Given the description of an element on the screen output the (x, y) to click on. 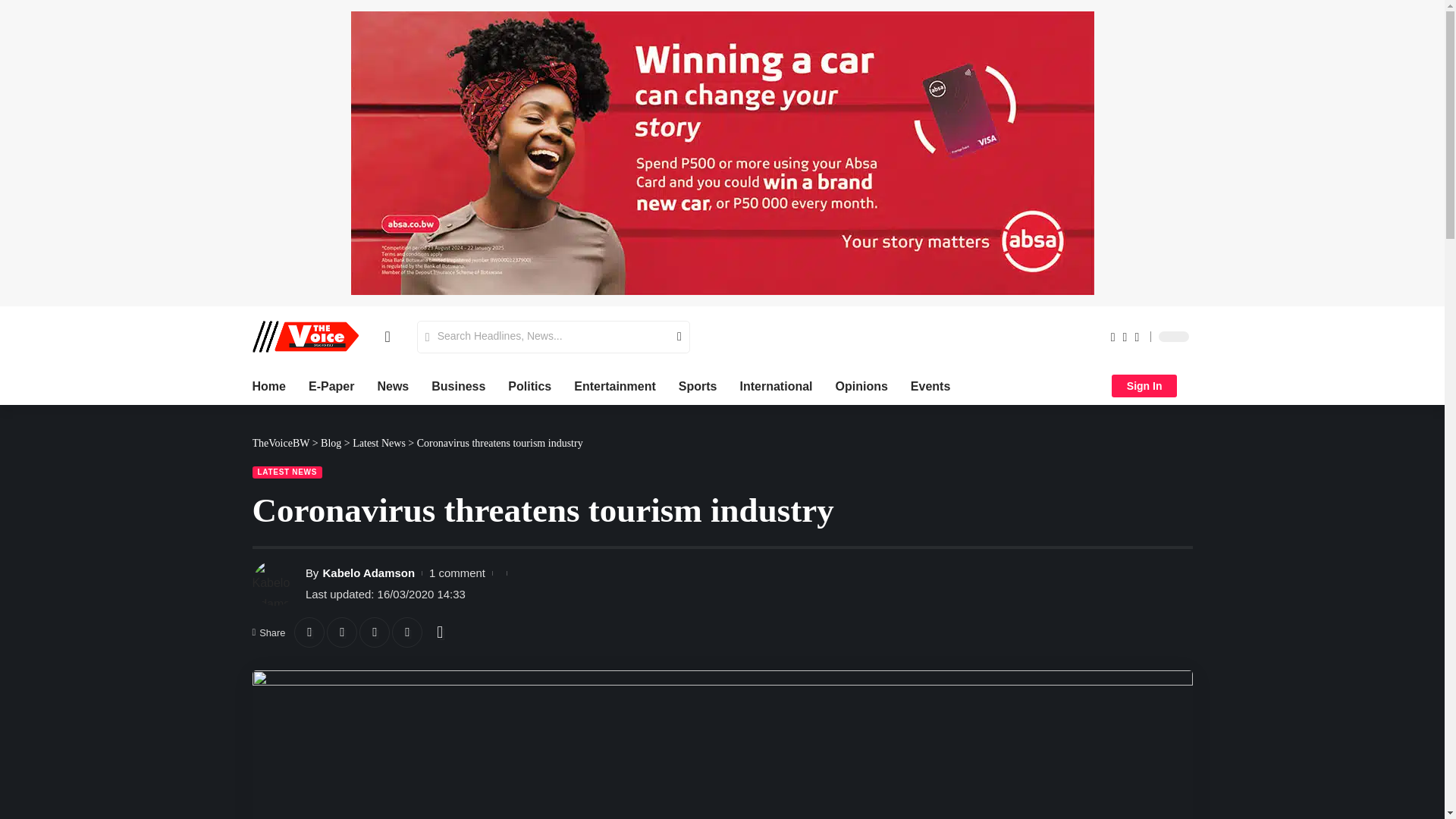
Sports (697, 385)
Business (457, 385)
Go to the Latest News Category archives. (379, 442)
Entertainment (614, 385)
International (775, 385)
Home (268, 385)
Go to Blog. (330, 442)
E-Paper (330, 385)
Politics (529, 385)
Events (930, 385)
